Given the description of an element on the screen output the (x, y) to click on. 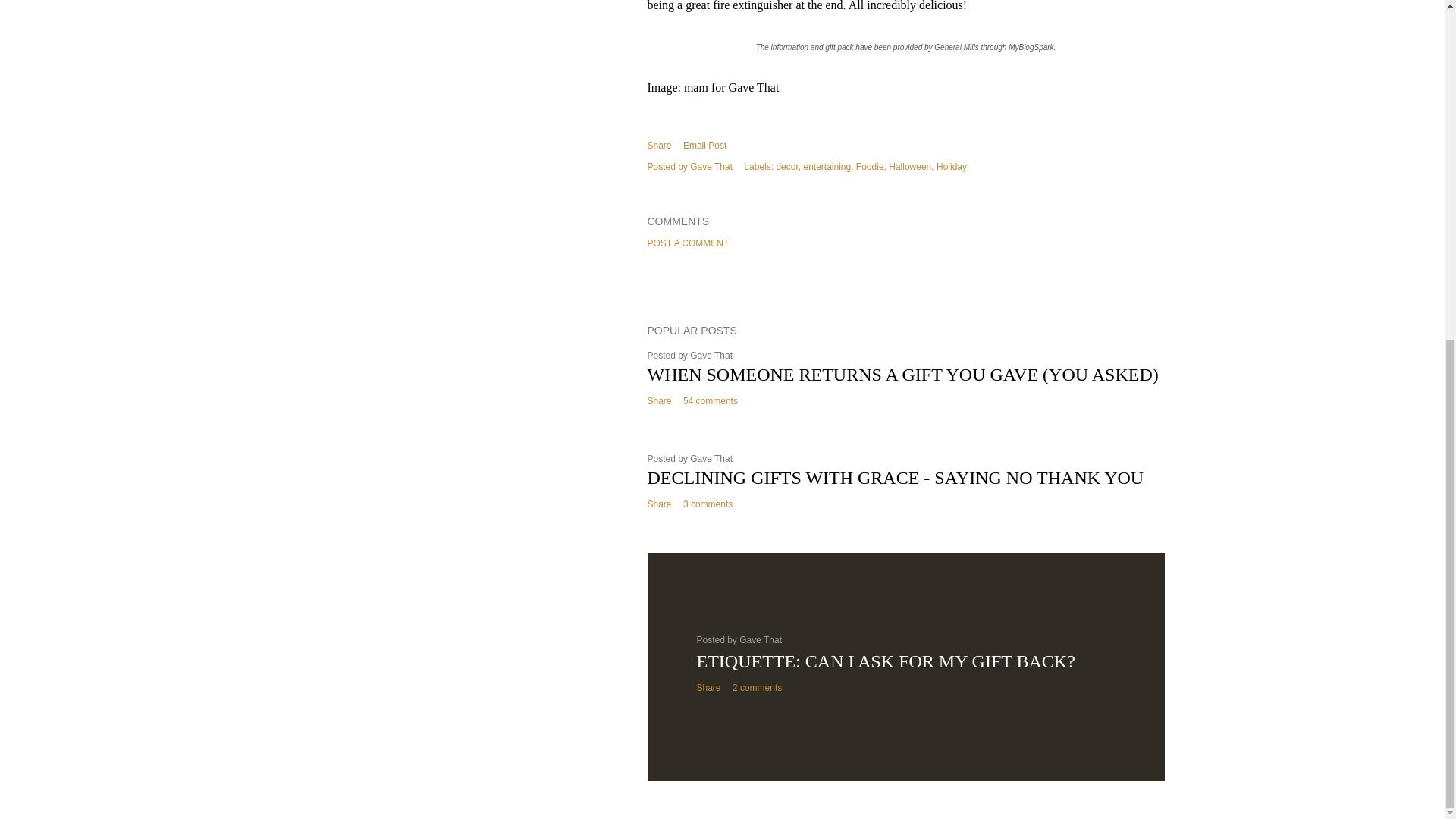
Holiday (951, 166)
Share (659, 145)
Gave That (711, 355)
entertaining (828, 166)
POST A COMMENT (688, 243)
Foodie (871, 166)
54 comments (710, 400)
Halloween (910, 166)
Gave That (711, 166)
Email Post (704, 145)
Gave That (711, 458)
Share (659, 400)
decor (788, 166)
